Given the description of an element on the screen output the (x, y) to click on. 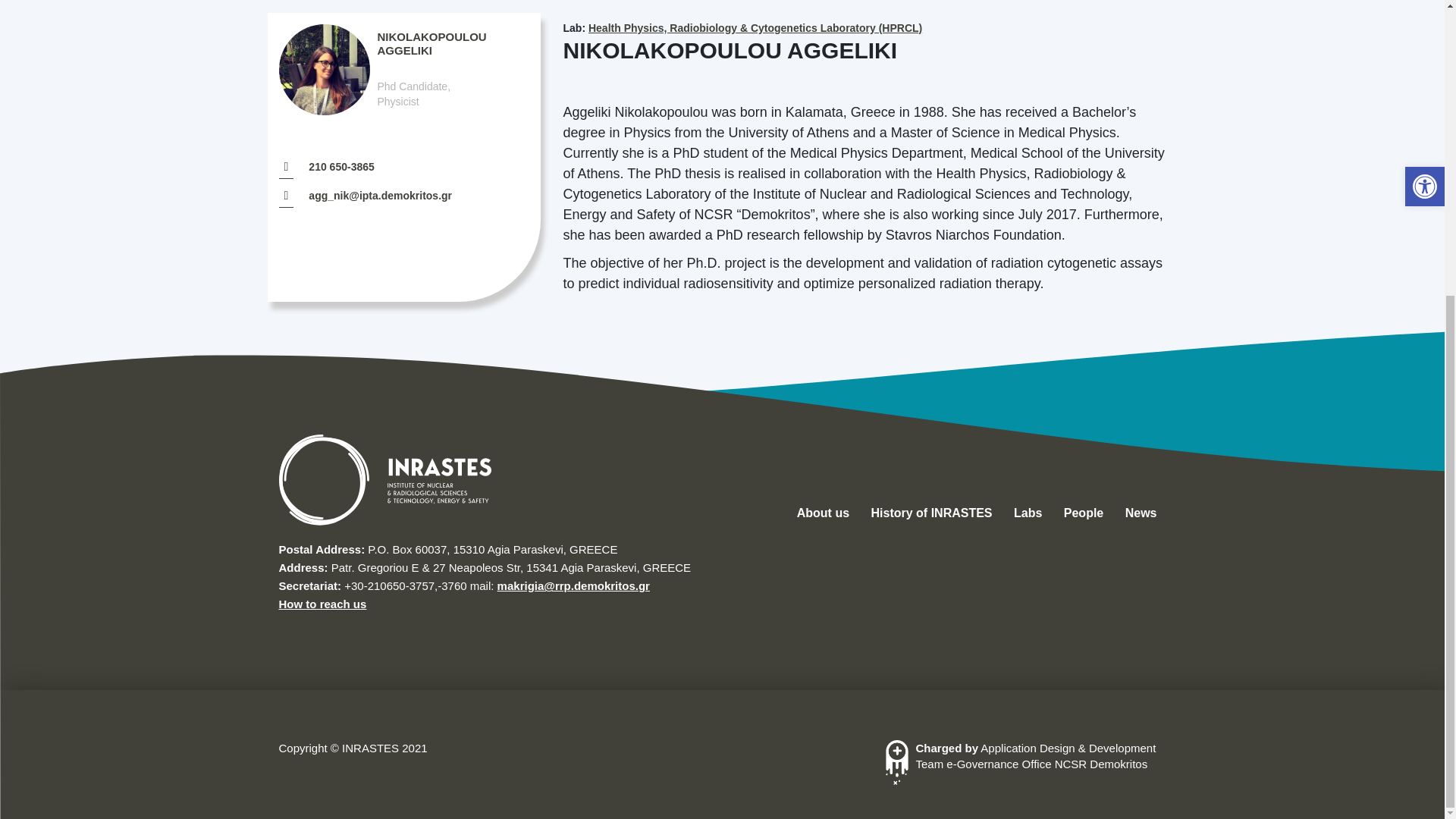
People (350, 0)
210 650-3865 (341, 166)
